Given the description of an element on the screen output the (x, y) to click on. 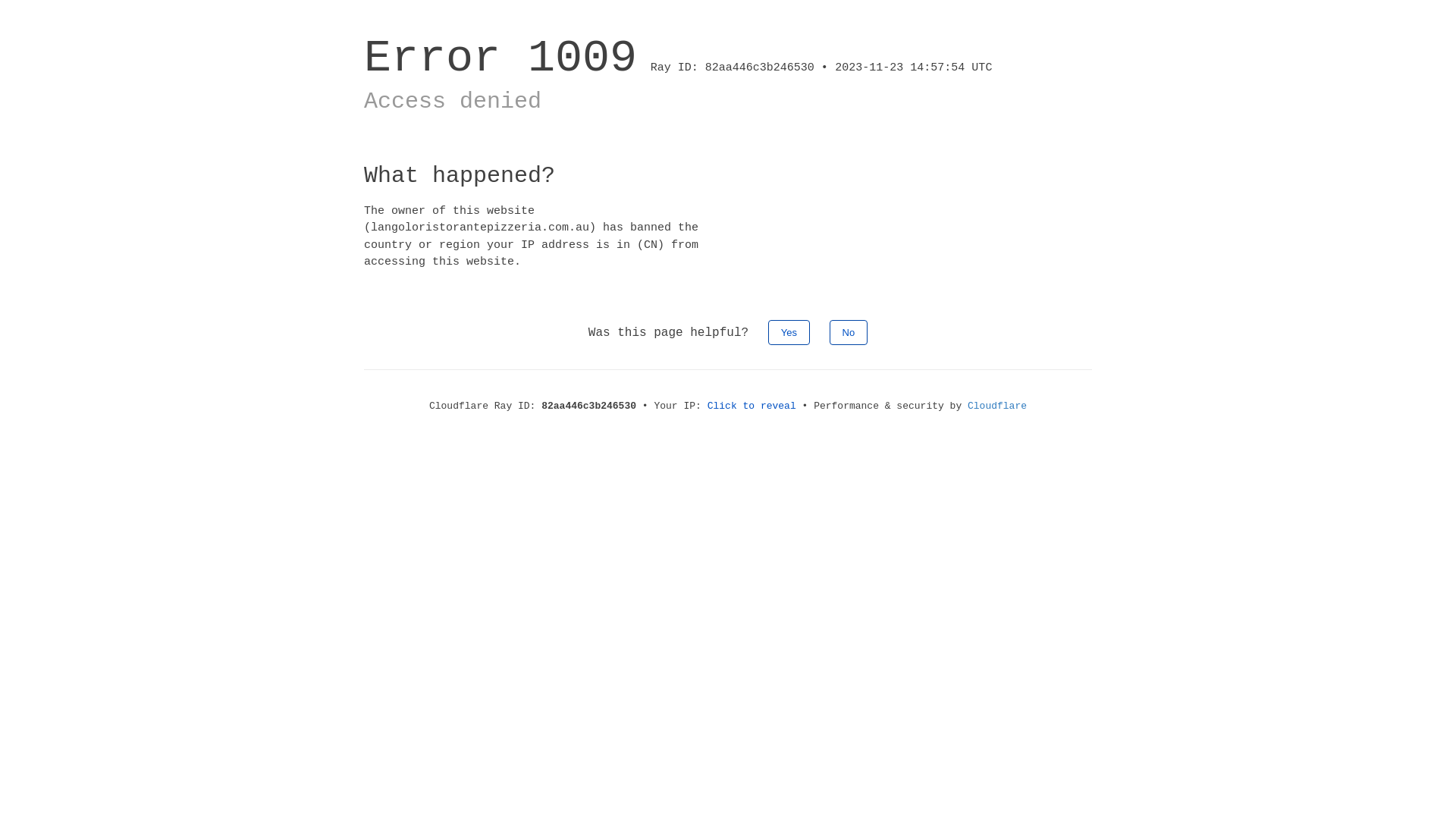
Cloudflare Element type: text (996, 405)
Click to reveal Element type: text (751, 405)
No Element type: text (848, 332)
Yes Element type: text (788, 332)
